Given the description of an element on the screen output the (x, y) to click on. 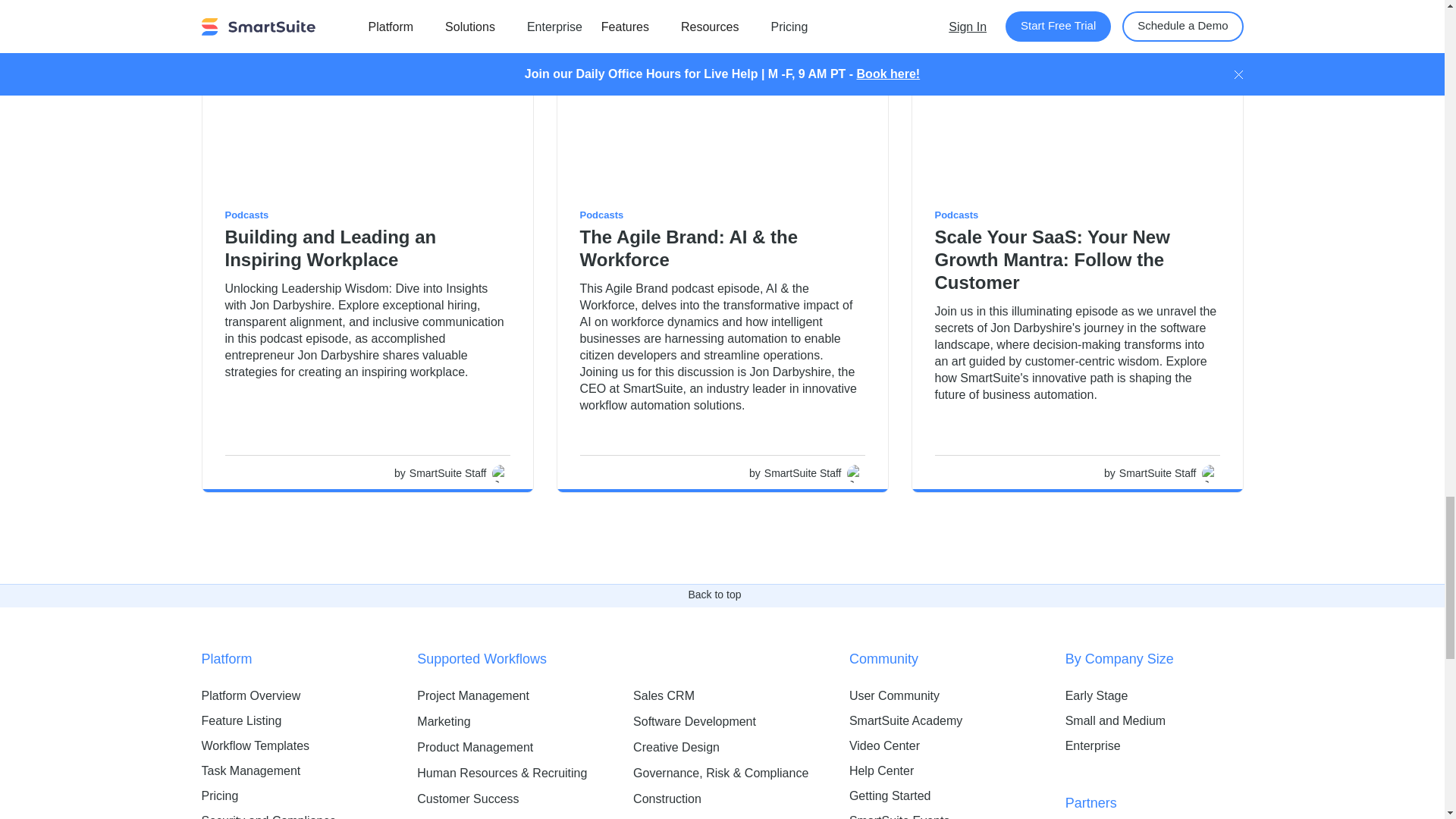
Back to top (721, 595)
Back to top (714, 594)
